Given the description of an element on the screen output the (x, y) to click on. 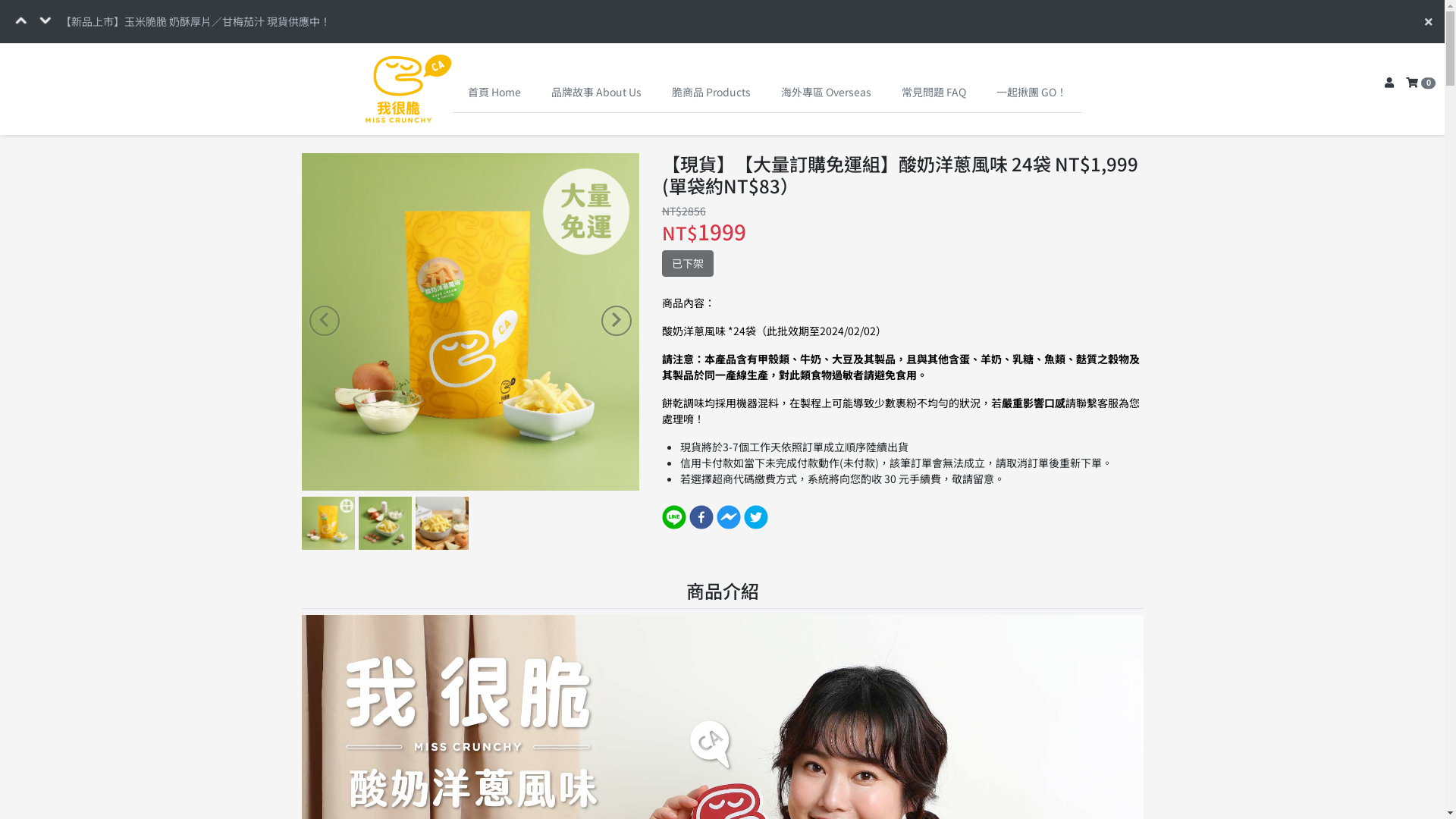
0 Element type: text (1420, 83)
